Given the description of an element on the screen output the (x, y) to click on. 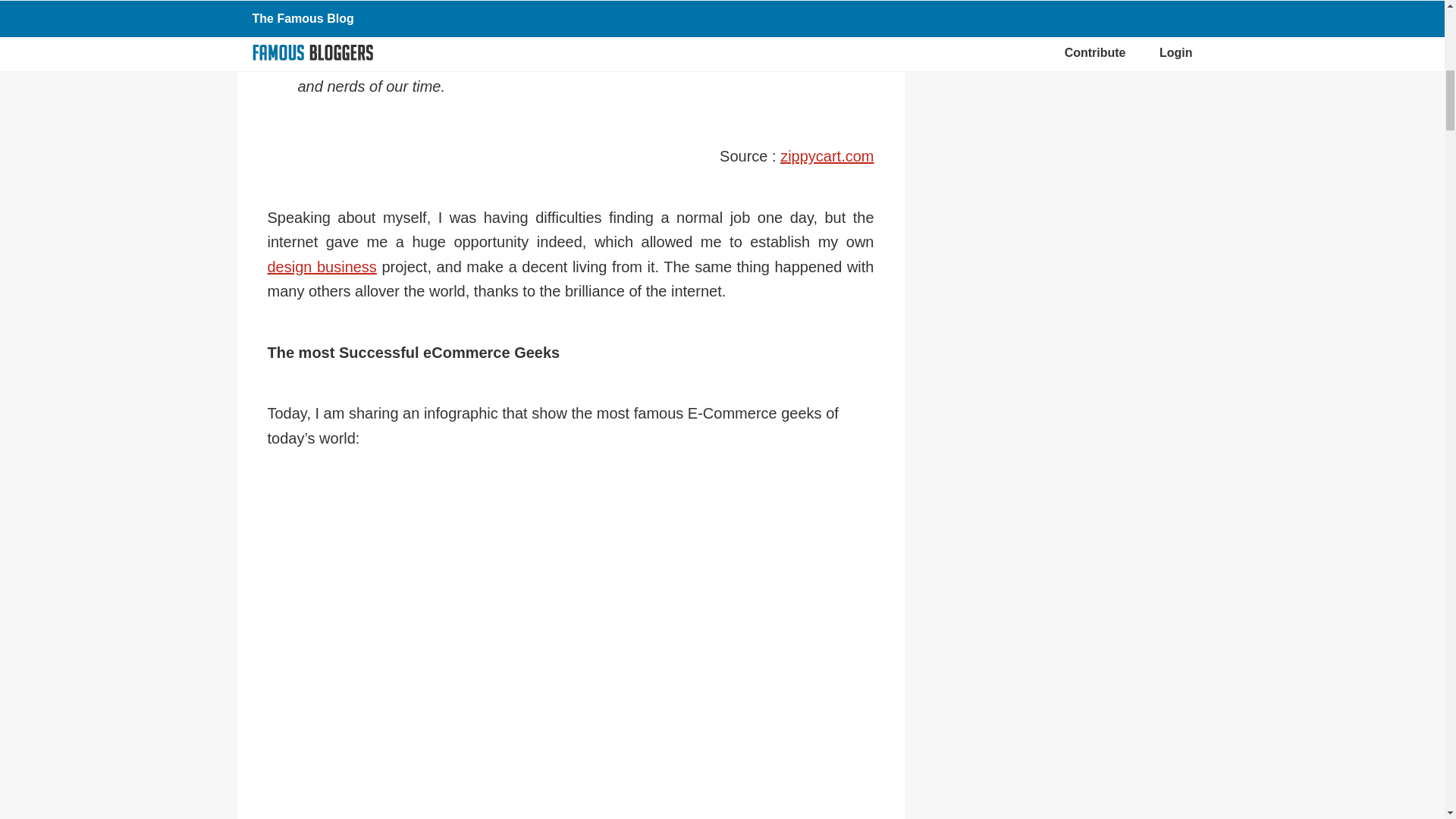
design business (320, 266)
The age of the ecommerce geek. (826, 156)
zippycart.com (826, 156)
design business (320, 266)
